Given the description of an element on the screen output the (x, y) to click on. 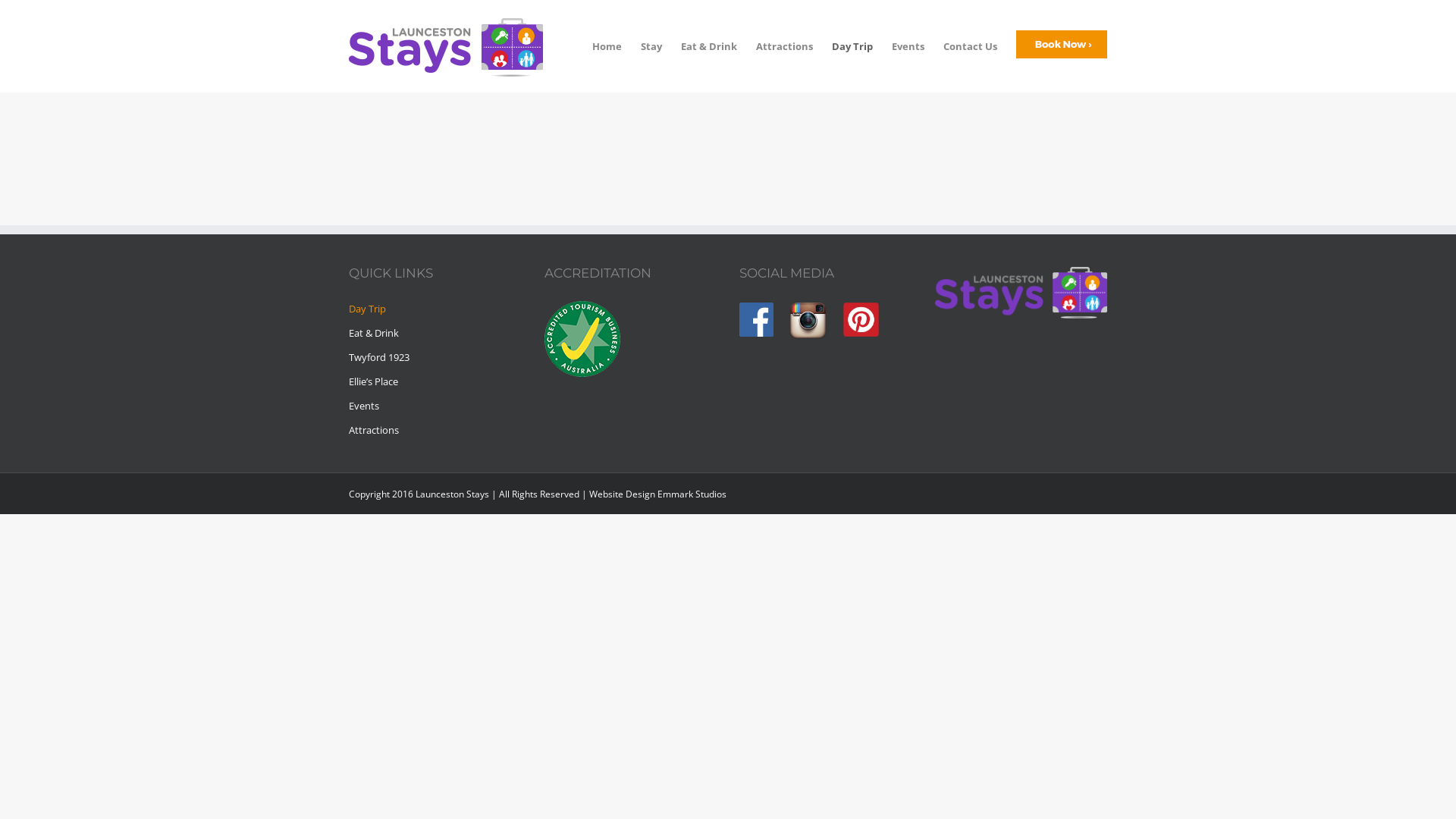
Twyford 1923 Element type: text (434, 357)
Attractions Element type: text (434, 429)
Eat & Drink Element type: text (708, 46)
Contact Us Element type: text (970, 46)
Home Element type: text (606, 46)
Day Trip Element type: text (434, 310)
Events Element type: text (907, 46)
Eat & Drink Element type: text (434, 332)
Stay Element type: text (651, 46)
Day Trip Element type: text (851, 46)
Emmark Studios Element type: text (691, 493)
Attractions Element type: text (784, 46)
Events Element type: text (434, 405)
